Given the description of an element on the screen output the (x, y) to click on. 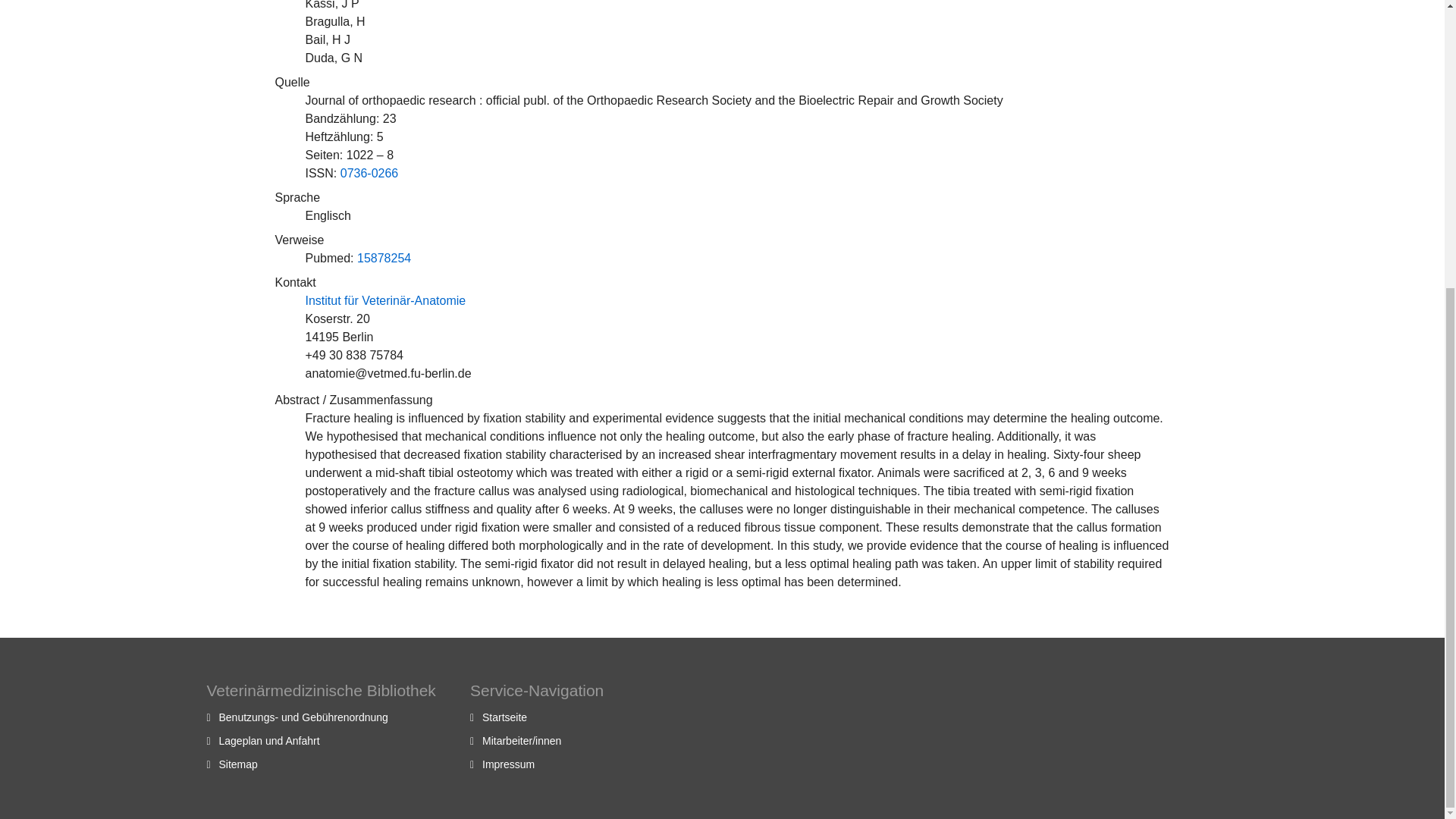
Impressum (507, 764)
0736-0266 (369, 173)
Lageplan und Anfahrt (268, 740)
Sitemap (237, 764)
Startseite (504, 717)
15878254 (383, 257)
